Given the description of an element on the screen output the (x, y) to click on. 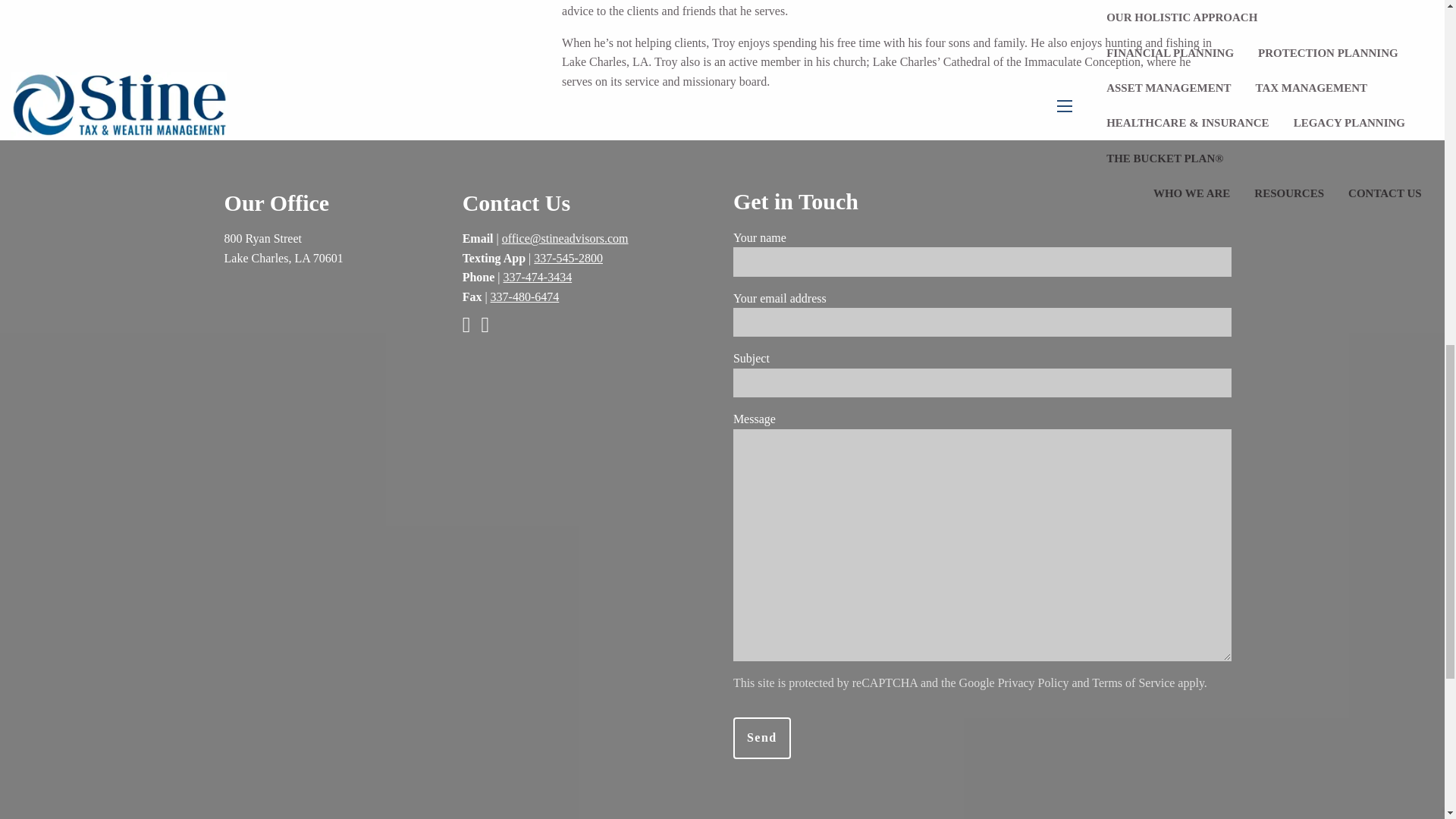
Send (761, 738)
Send (761, 738)
Privacy Policy (1032, 682)
Text Us (568, 257)
337-480-6474 (524, 296)
Terms of Service (1133, 682)
337-474-3434 (537, 277)
Email Us (565, 237)
Fax Us (524, 296)
Call Us (537, 277)
337-545-2800 (568, 257)
